Given the description of an element on the screen output the (x, y) to click on. 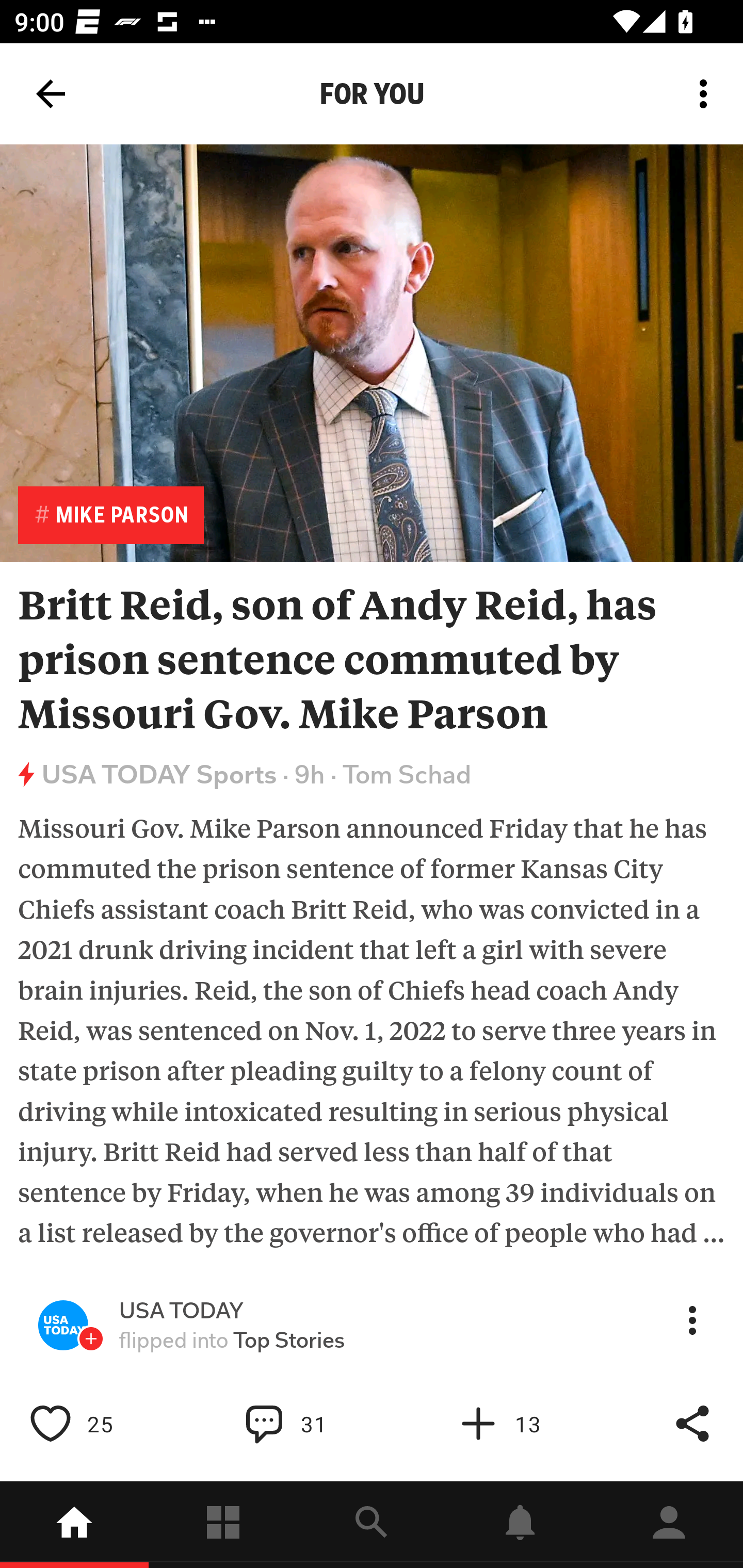
Back (50, 93)
FOR YOU (371, 93)
More options (706, 93)
# MIKE PARSON (110, 515)
More (692, 1319)
USA TODAY (180, 1310)
flipped into Top Stories (231, 1339)
Like 30 (93, 1423)
Write a comment… (307, 1423)
Flip into Magazine 28 (521, 1423)
Share (692, 1423)
home (74, 1524)
Following (222, 1524)
explore (371, 1524)
Notifications (519, 1524)
Profile (668, 1524)
